Given the description of an element on the screen output the (x, y) to click on. 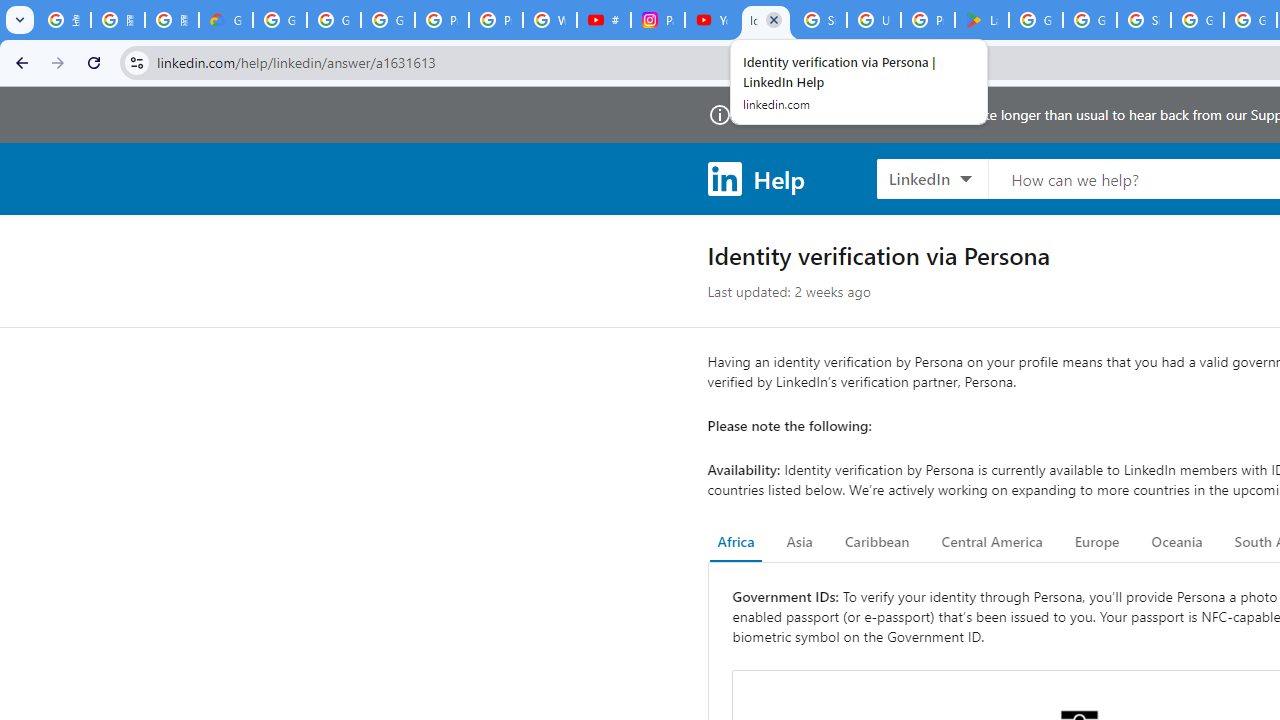
Help (755, 178)
Privacy Help Center - Policies Help (495, 20)
Search tabs (20, 20)
Europe (1096, 542)
View site information (136, 62)
Sign in - Google Accounts (1144, 20)
LinkedIn products to search, LinkedIn selected (932, 178)
Africa (735, 542)
Caribbean (876, 542)
Central America (991, 542)
Oceania (1176, 542)
